Given the description of an element on the screen output the (x, y) to click on. 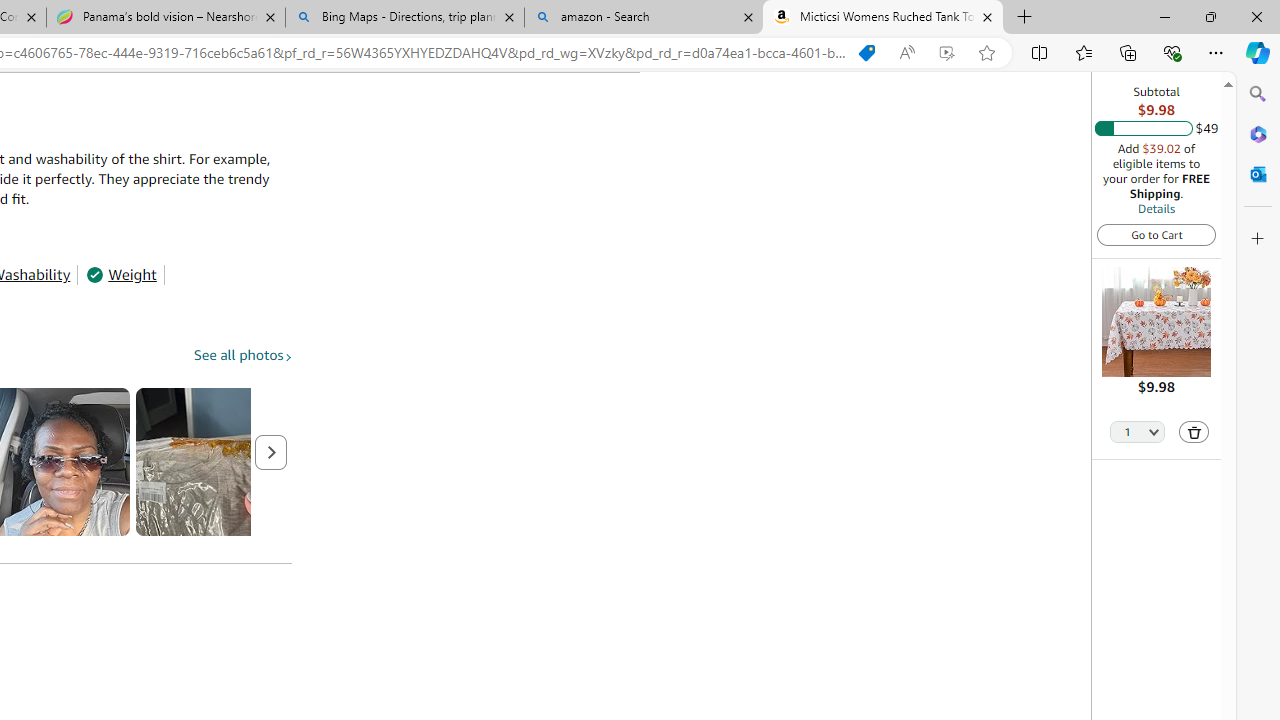
Weight (121, 274)
amazon - Search (643, 17)
See all photos (243, 355)
Next page (271, 452)
